Given the description of an element on the screen output the (x, y) to click on. 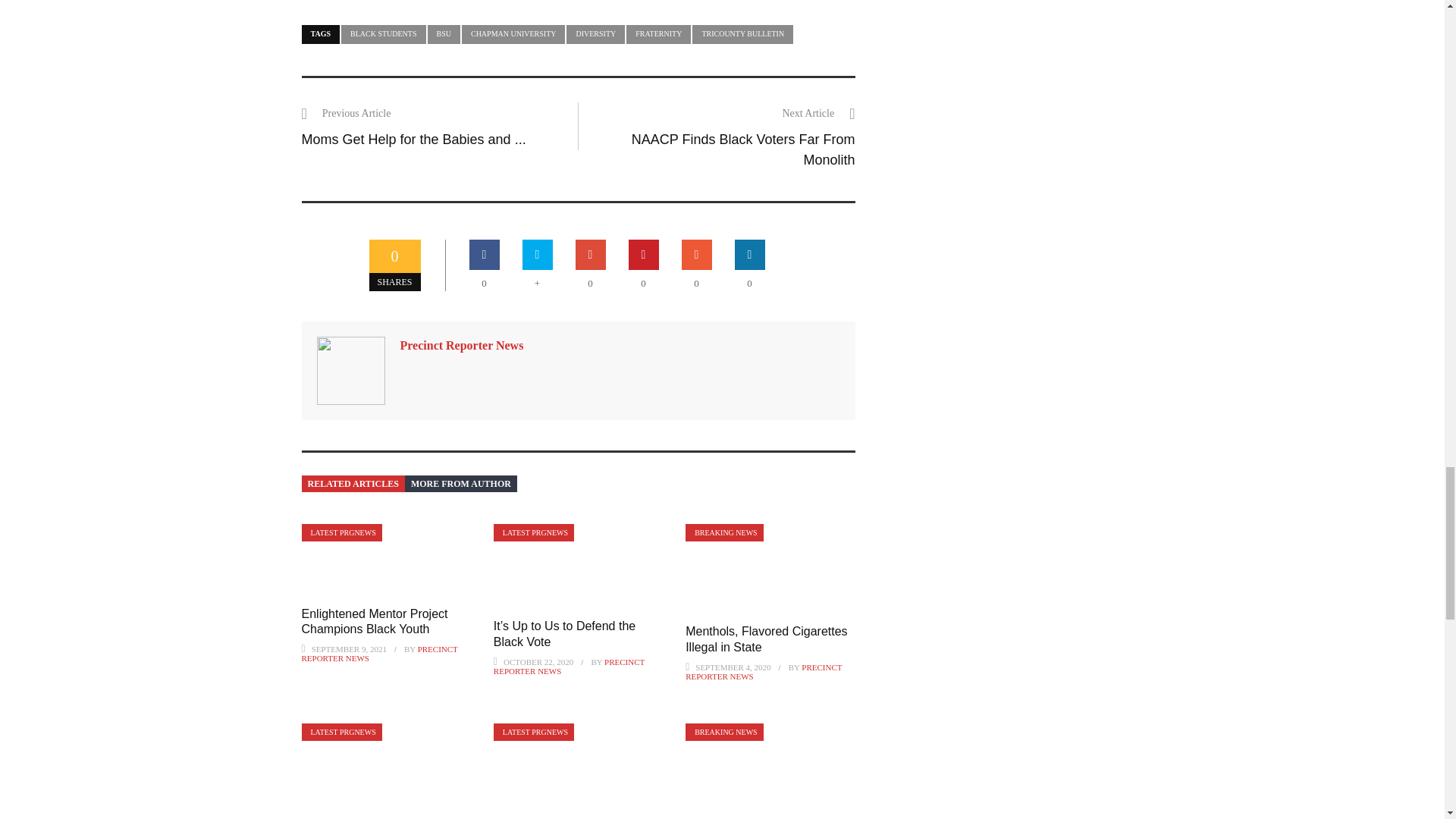
View all posts tagged diversity (595, 34)
View all posts tagged fraternity (658, 34)
View all posts tagged BSU (444, 34)
View all posts tagged Black students (383, 34)
View all posts tagged Chapman University (513, 34)
View all posts tagged tricounty bulletin (743, 34)
